Given the description of an element on the screen output the (x, y) to click on. 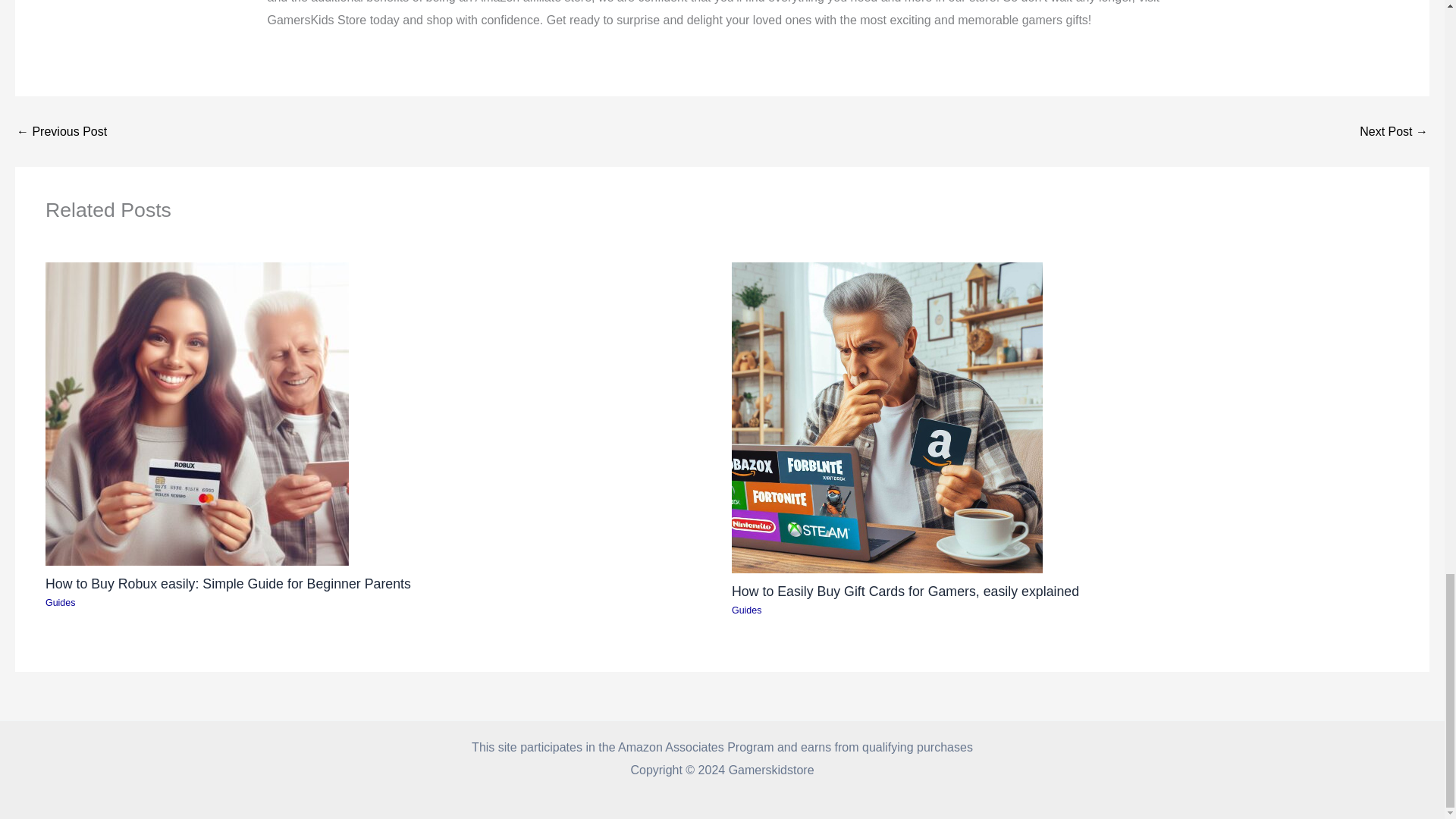
PlayStation 6 will be ready by 2028? (1393, 132)
